Given the description of an element on the screen output the (x, y) to click on. 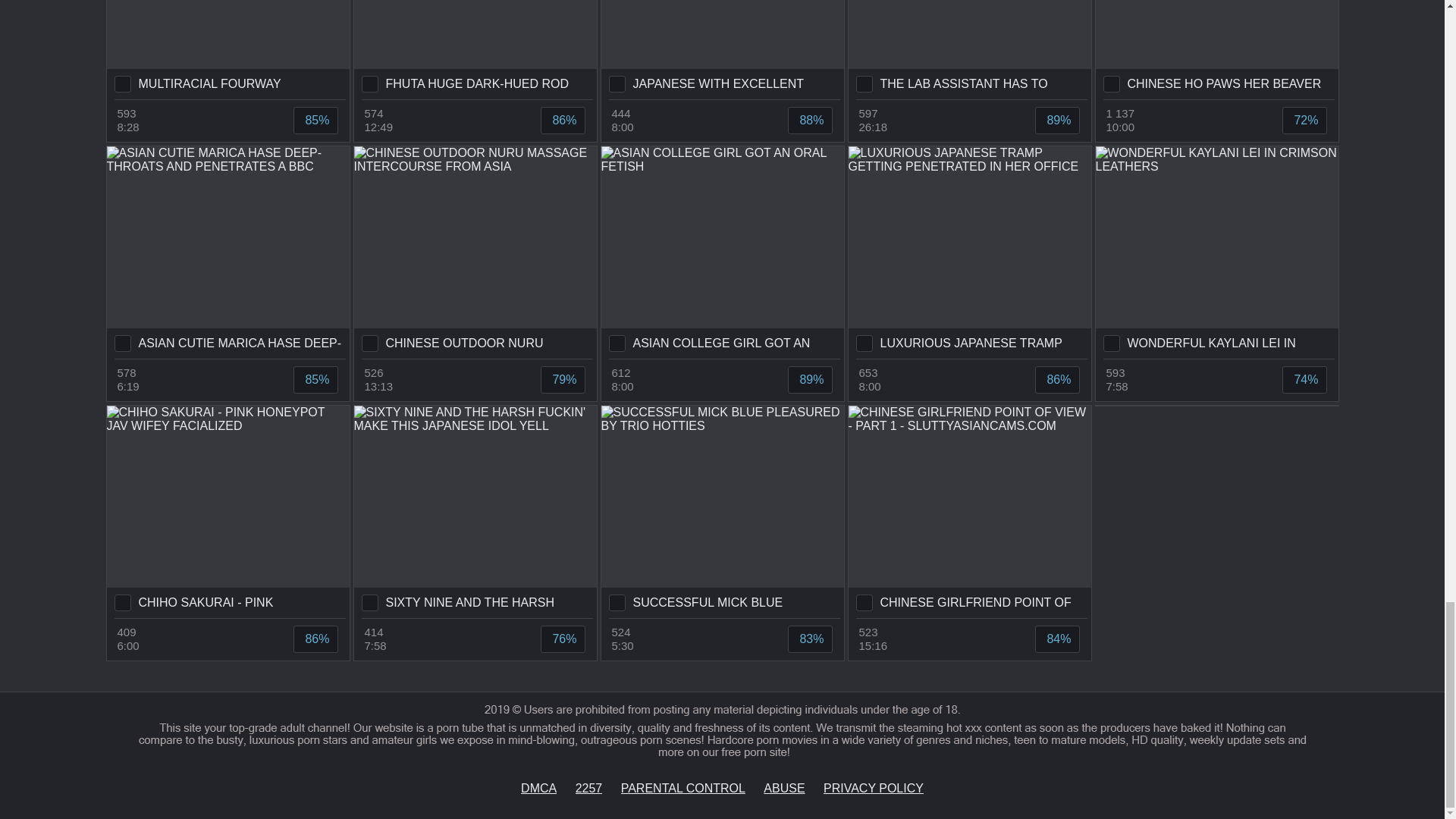
MULTIRACIAL FOURWAY FEATURING LONDON, (227, 49)
ASIAN CUTIE MARICA HASE DEEP-THROATS AND (227, 252)
THE LAB ASSISTANT HAS TO CHECK HIS SEMEN (968, 49)
CHINESE HO PAWS HER BEAVER (1216, 49)
JAPANESE WITH EXCELLENT BOOBIES IN (721, 49)
FHUTA HUGE DARK-HUED ROD SPLITS TAUT (474, 49)
